Given the description of an element on the screen output the (x, y) to click on. 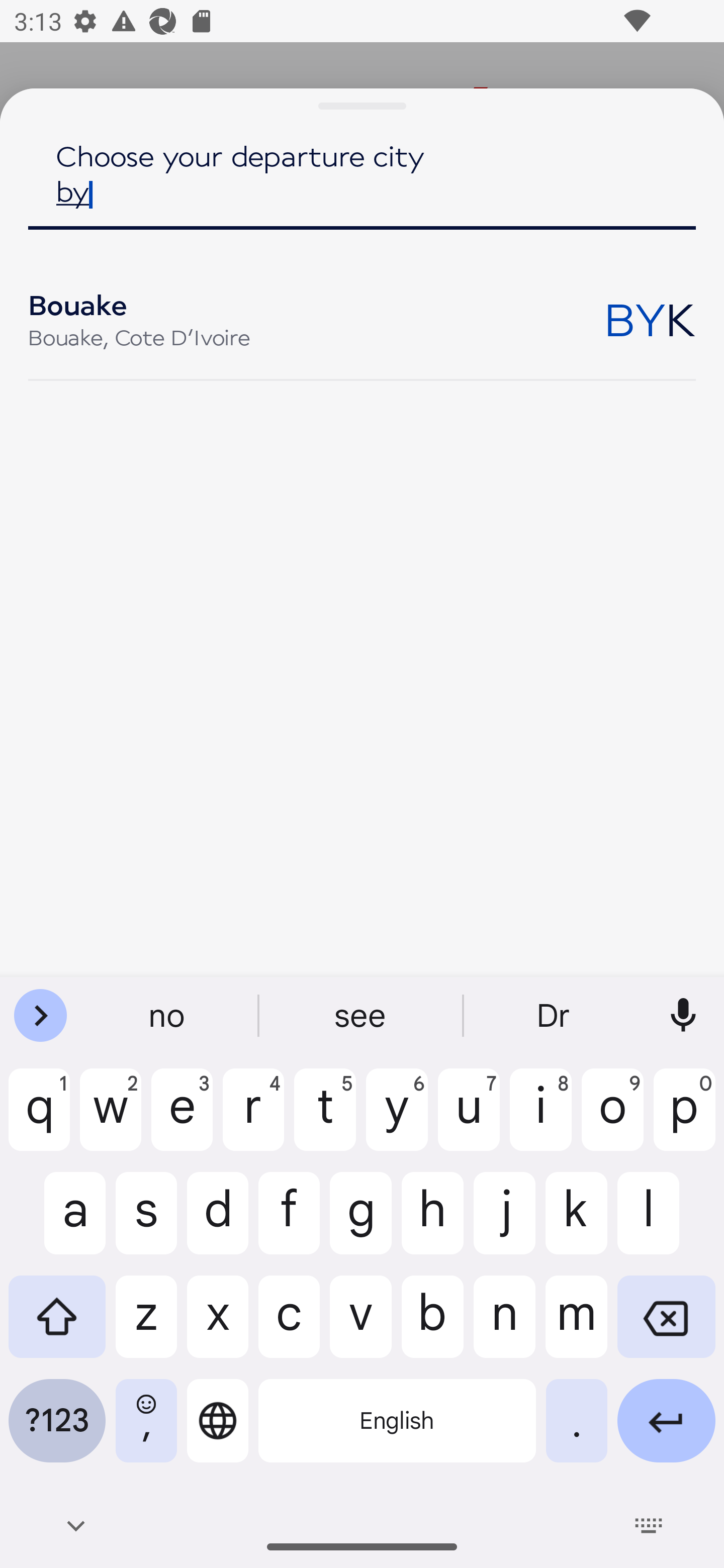
by Choose your departure city (361, 190)
Bouake Bouake, Cote D’Ivoire BYK (361, 317)
